Given the description of an element on the screen output the (x, y) to click on. 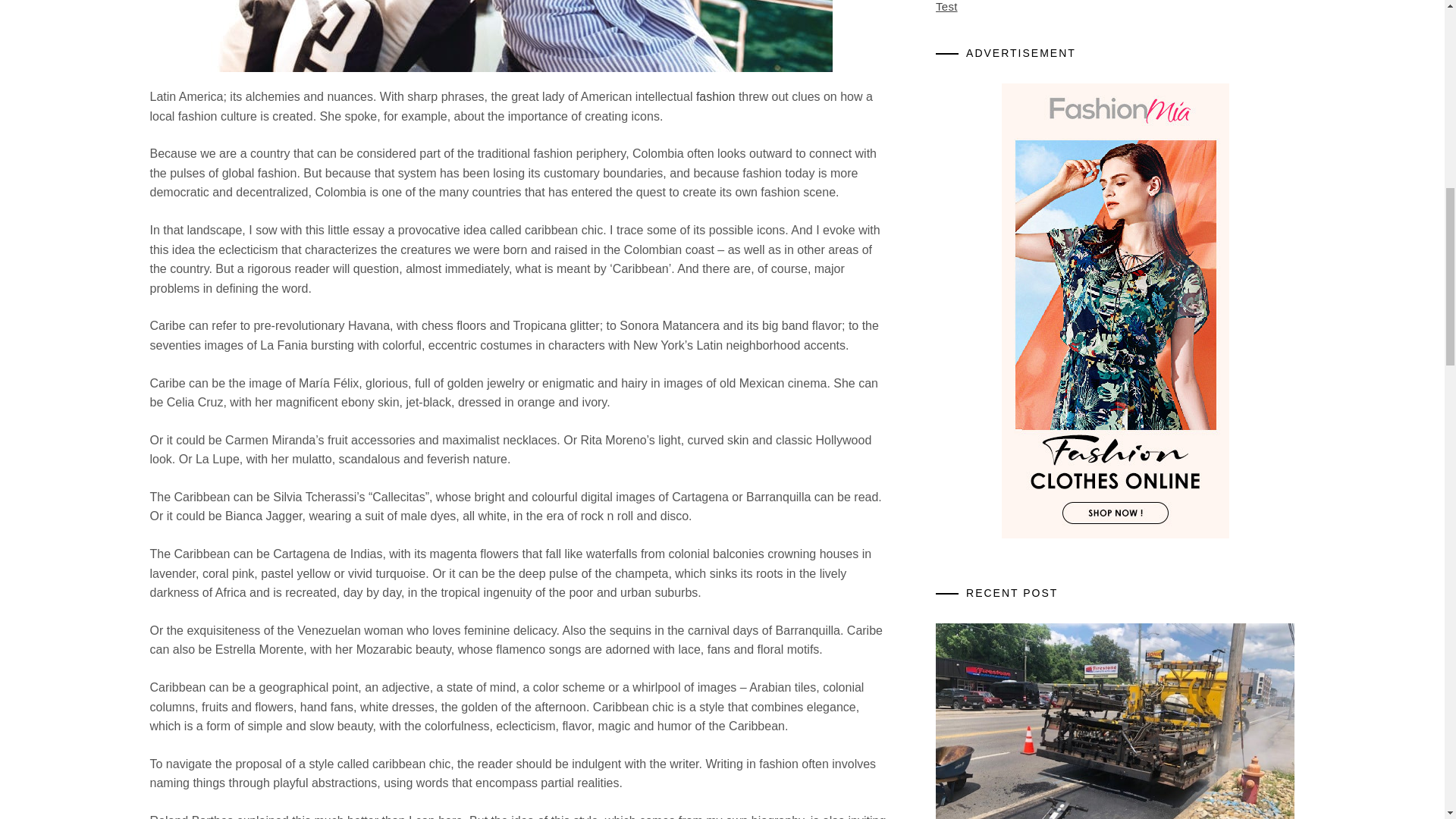
Test (947, 6)
fashion (715, 96)
